Given the description of an element on the screen output the (x, y) to click on. 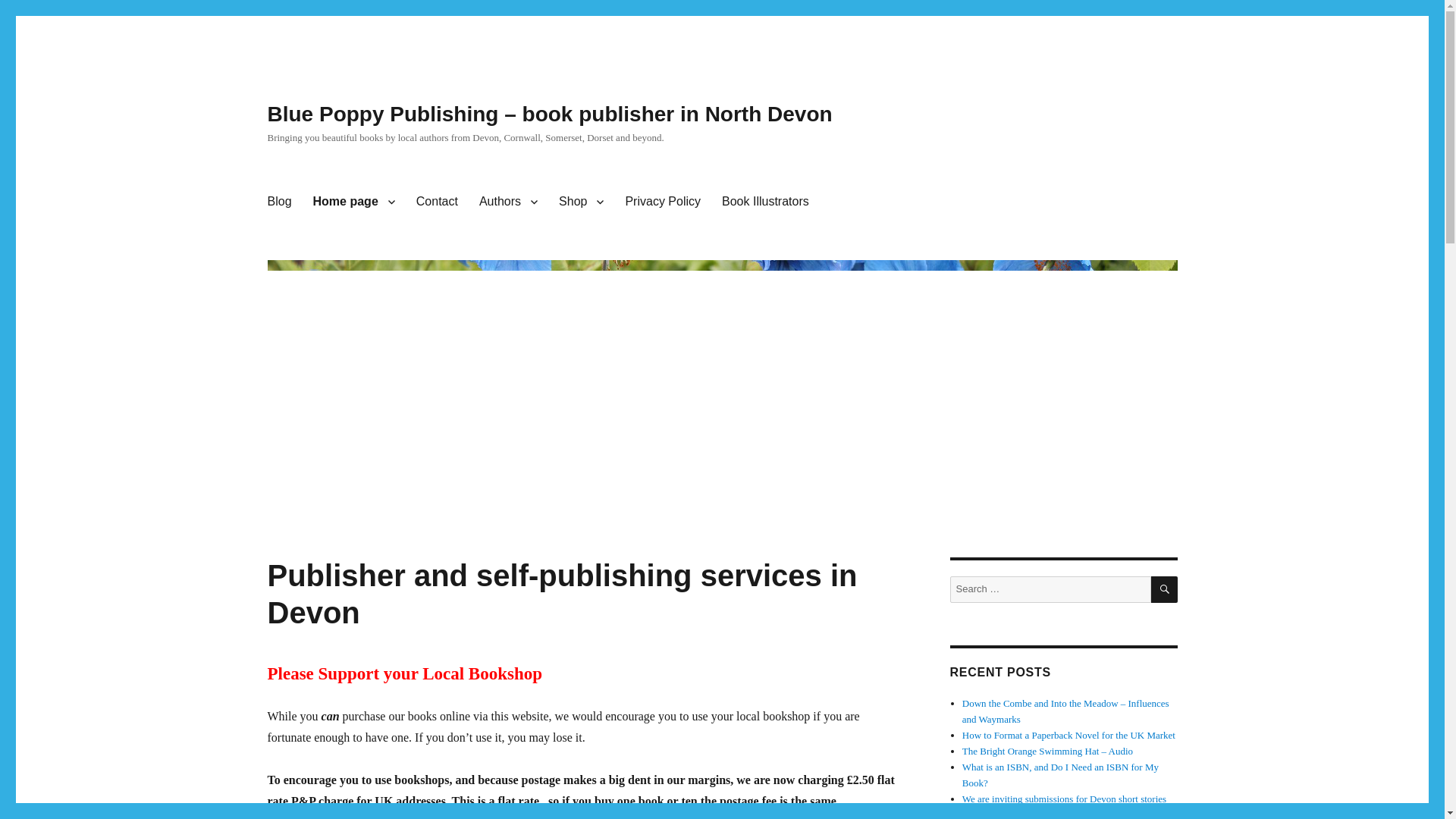
Home page (354, 201)
Book Illustrators (765, 201)
Contact (437, 201)
Blog (278, 201)
Privacy Policy (662, 201)
Shop (581, 201)
Authors (508, 201)
